Given the description of an element on the screen output the (x, y) to click on. 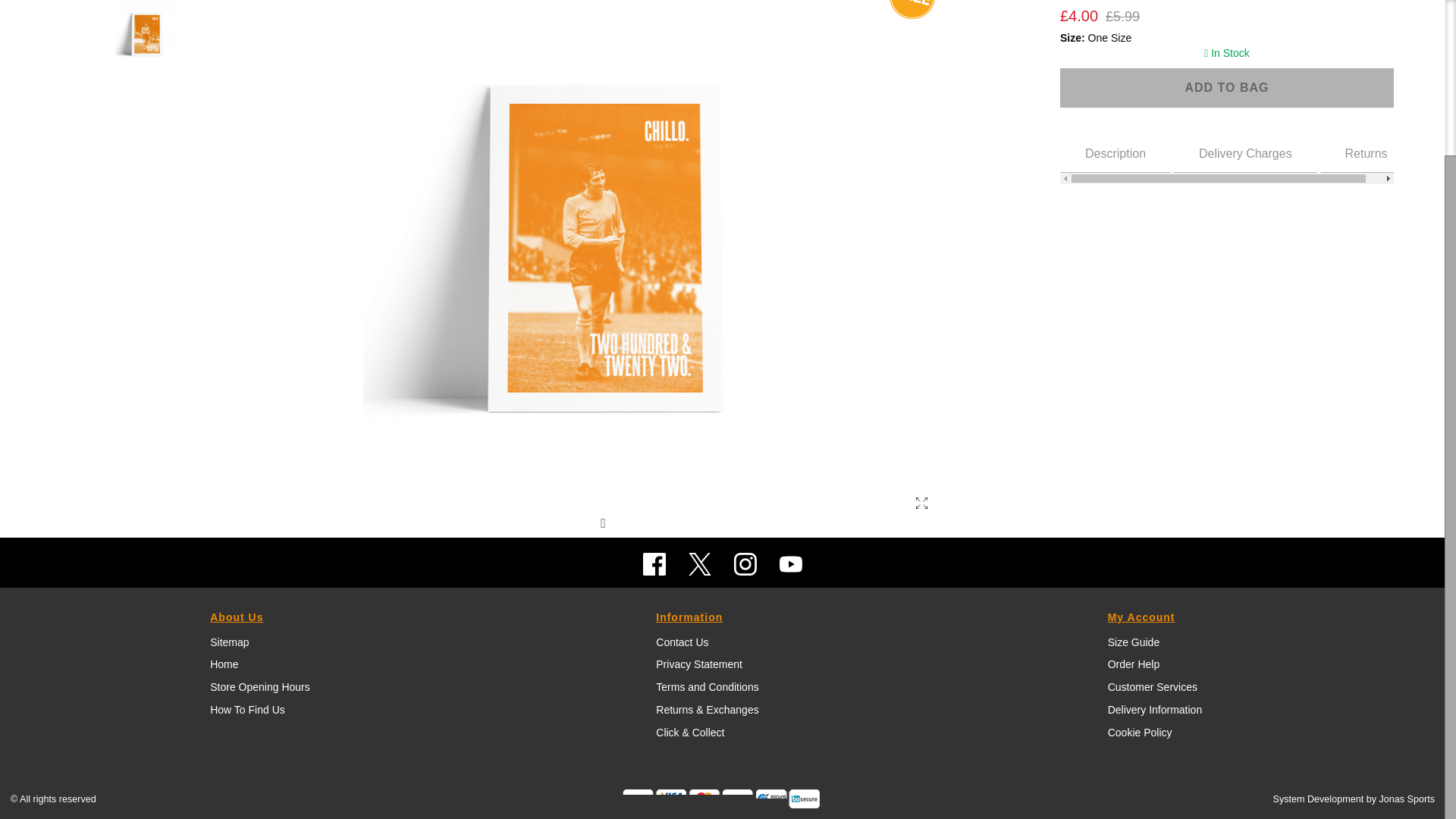
Share on Pinterest (606, 522)
Payment Method (687, 798)
Returns (1226, 157)
Add to Bag (1366, 151)
Share on Twitter (1226, 87)
Description (578, 522)
Delivery Charges (1114, 151)
Chillo 222 Print (1245, 151)
Share on Facebook (636, 522)
